Given the description of an element on the screen output the (x, y) to click on. 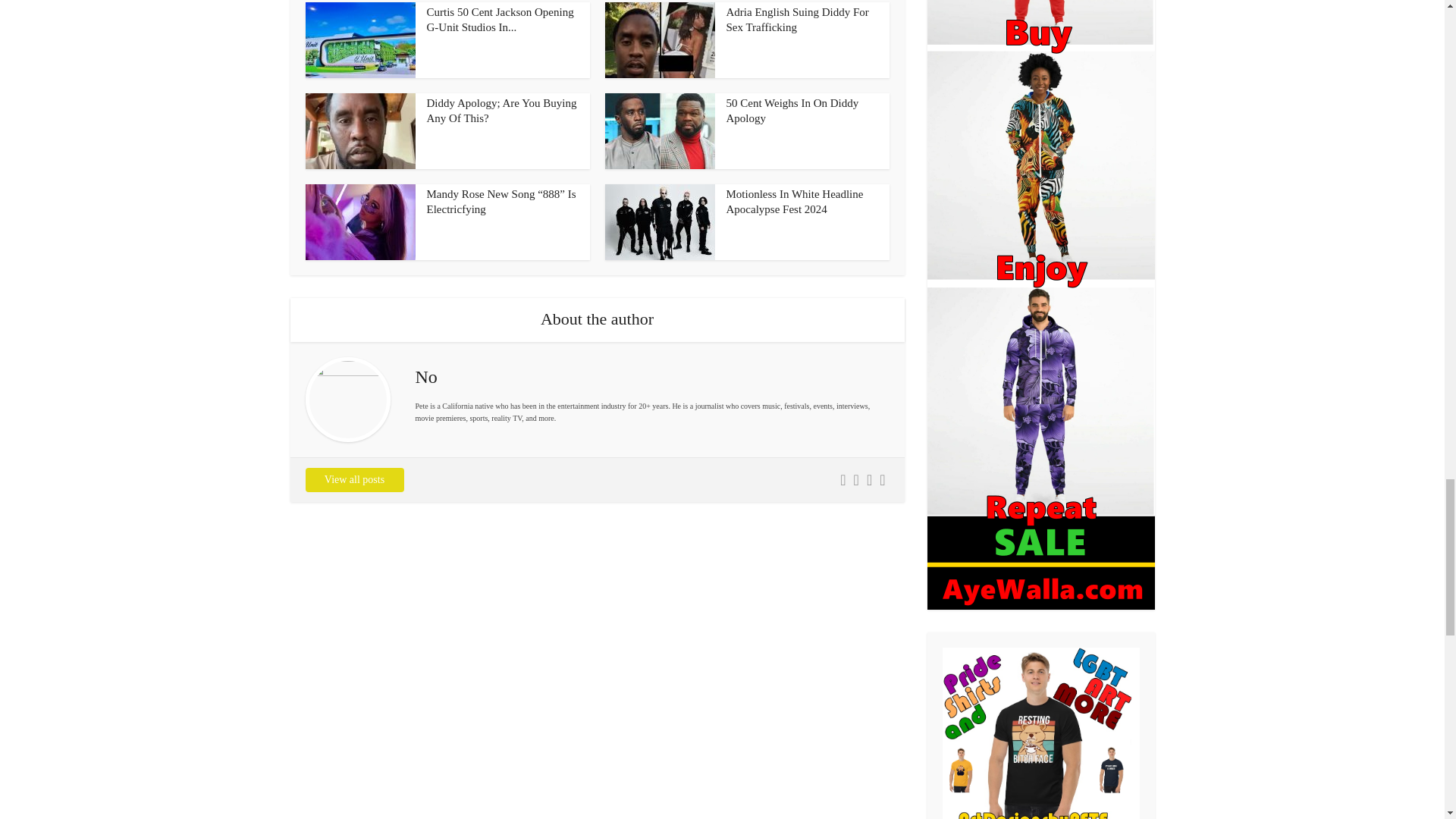
Adria English Suing Diddy For Sex Trafficking (797, 19)
50 Cent Weighs In On Diddy Apology (792, 110)
50 Cent Weighs In On Diddy Apology (792, 110)
View all posts (353, 479)
Motionless In White Headline Apocalypse Fest 2024 (794, 201)
Curtis 50 Cent Jackson Opening G-Unit Studios In... (499, 19)
Diddy Apology; Are You Buying Any Of This? (501, 110)
Adria English Suing Diddy For Sex Trafficking (797, 19)
Motionless In White Headline Apocalypse Fest 2024 (794, 201)
Curtis 50 Cent Jackson Opening G-Unit Studios In Shreveport (499, 19)
Diddy Apology; Are You Buying Any Of This? (501, 110)
